Given the description of an element on the screen output the (x, y) to click on. 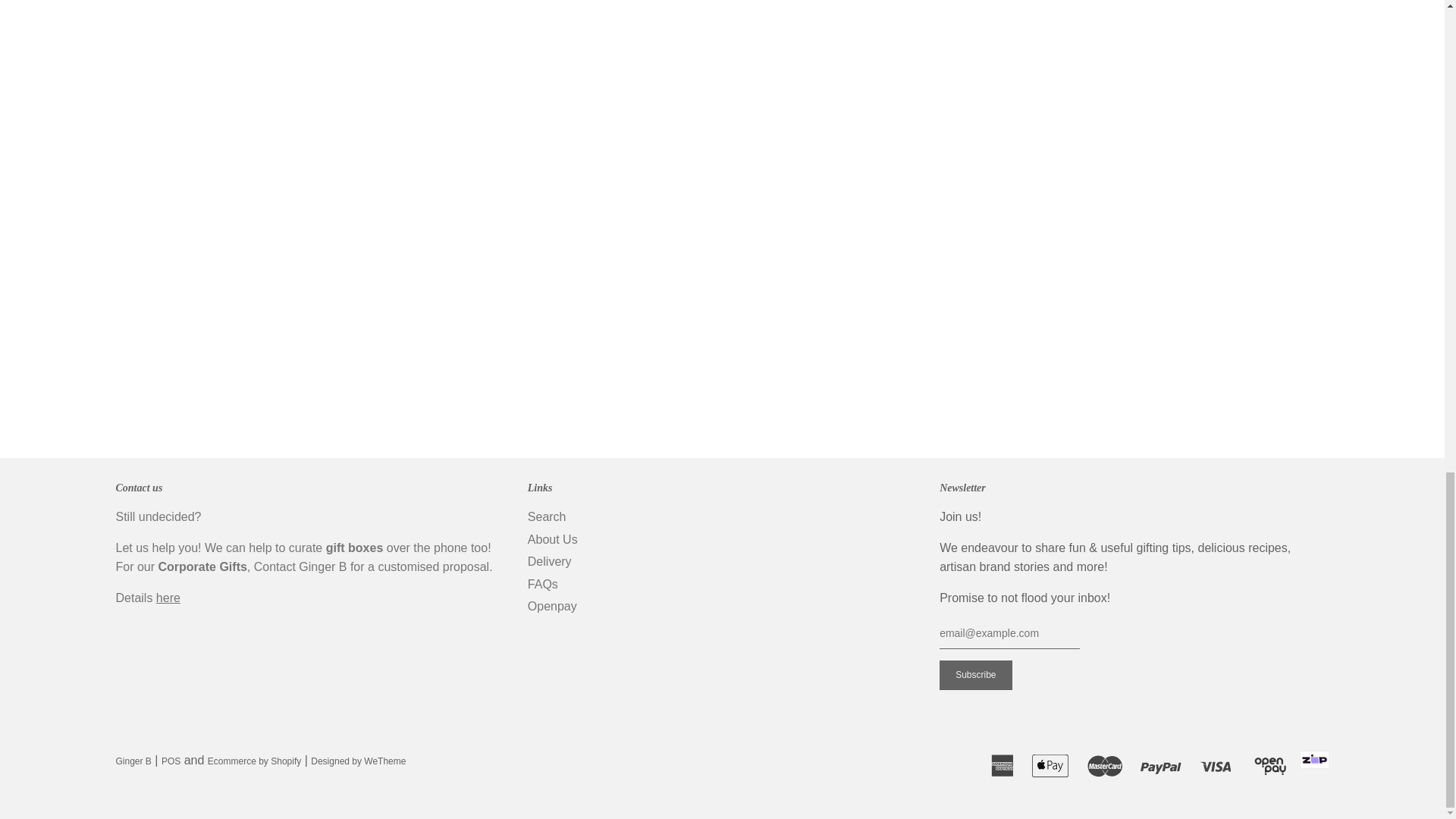
Subscribe (975, 675)
Contact Us (167, 597)
Designed by WeTheme (358, 760)
